Given the description of an element on the screen output the (x, y) to click on. 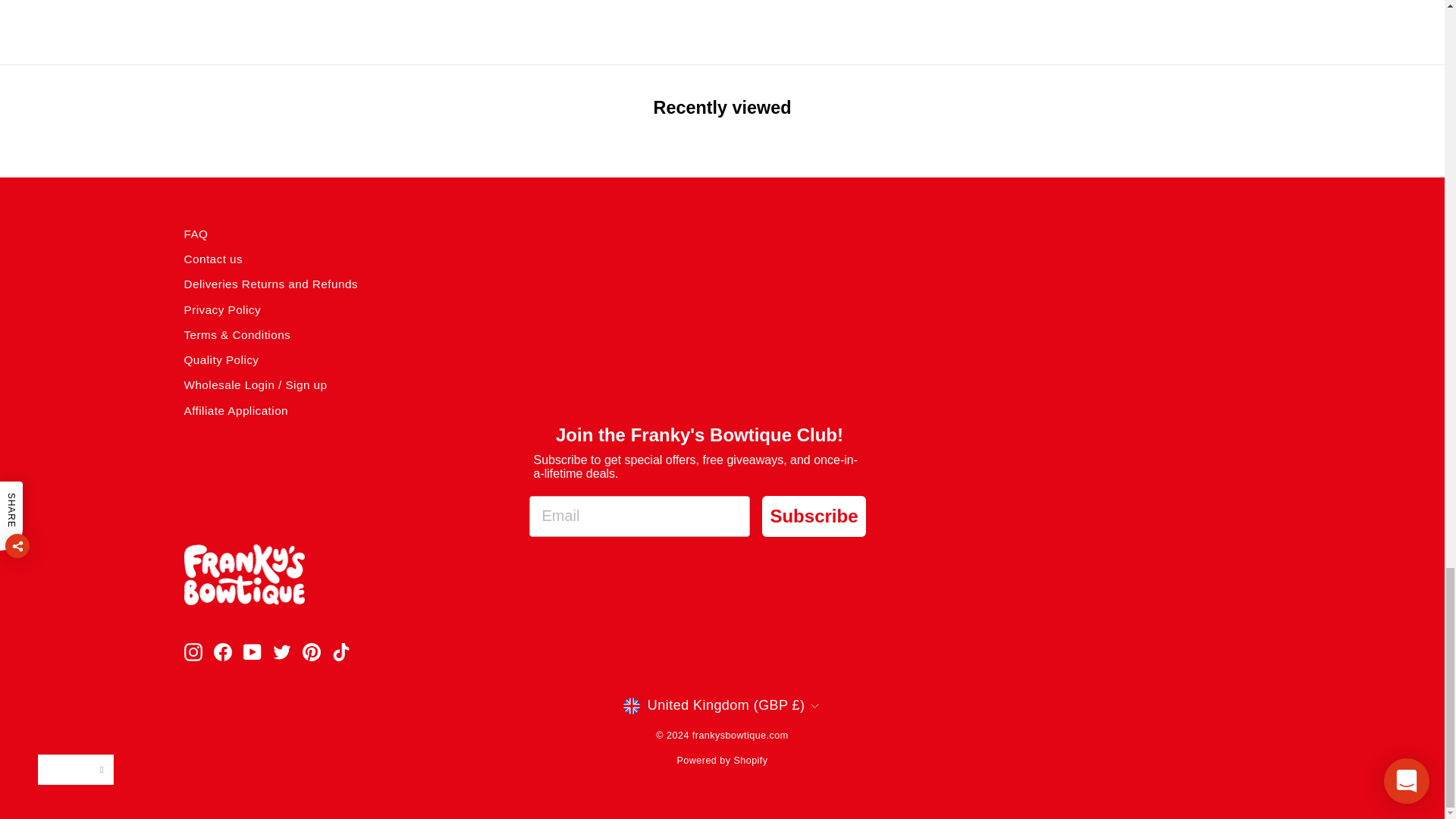
frankysbowtique.com on YouTube (251, 651)
frankysbowtique.com on Instagram (192, 651)
frankysbowtique.com on Facebook (222, 651)
frankysbowtique.com on Twitter (282, 651)
